Given the description of an element on the screen output the (x, y) to click on. 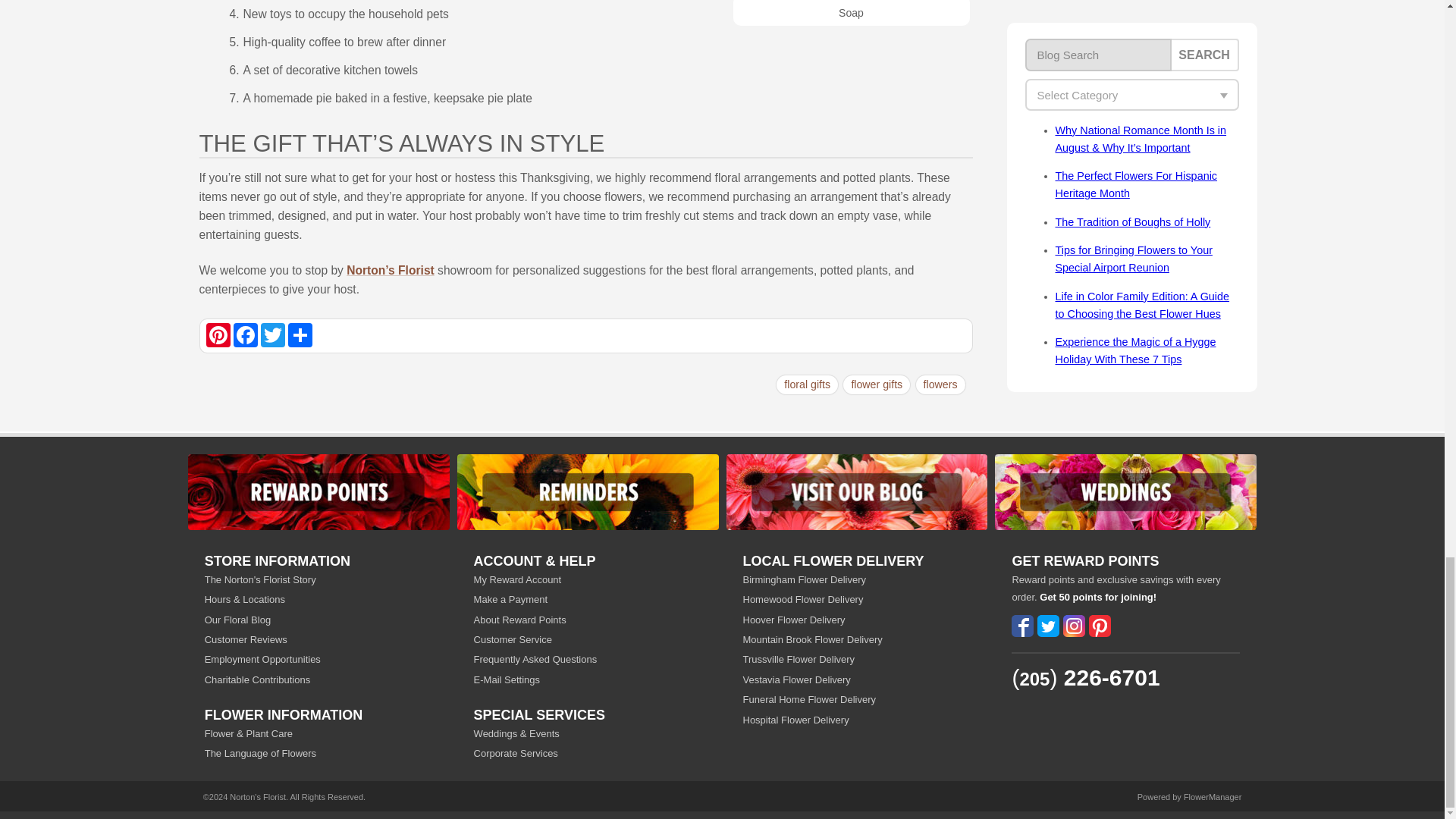
floral gifts (807, 384)
Facebook (245, 334)
Pinterest (218, 334)
Facebook (245, 334)
Twitter (272, 334)
flowers (940, 384)
Twitter (272, 334)
Pinterest (218, 334)
flower gifts (876, 384)
